Given the description of an element on the screen output the (x, y) to click on. 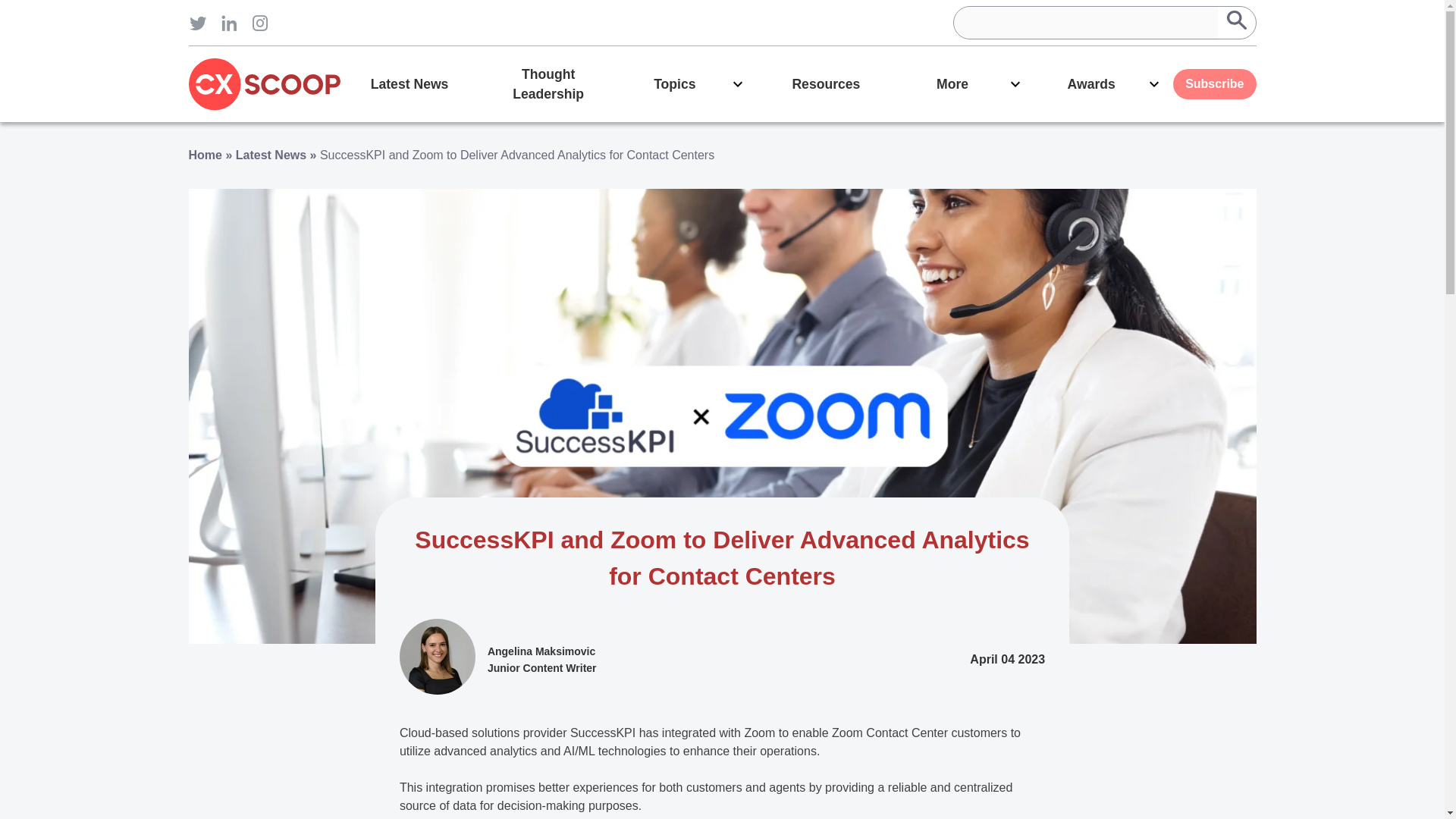
Subscribe (1214, 83)
Latest News (270, 154)
Resources (826, 83)
April 04 2023 (1007, 659)
More (964, 83)
Topics (687, 83)
Angelina Maksimovic (541, 651)
Home (204, 154)
Latest News (409, 83)
Awards (1103, 83)
